Given the description of an element on the screen output the (x, y) to click on. 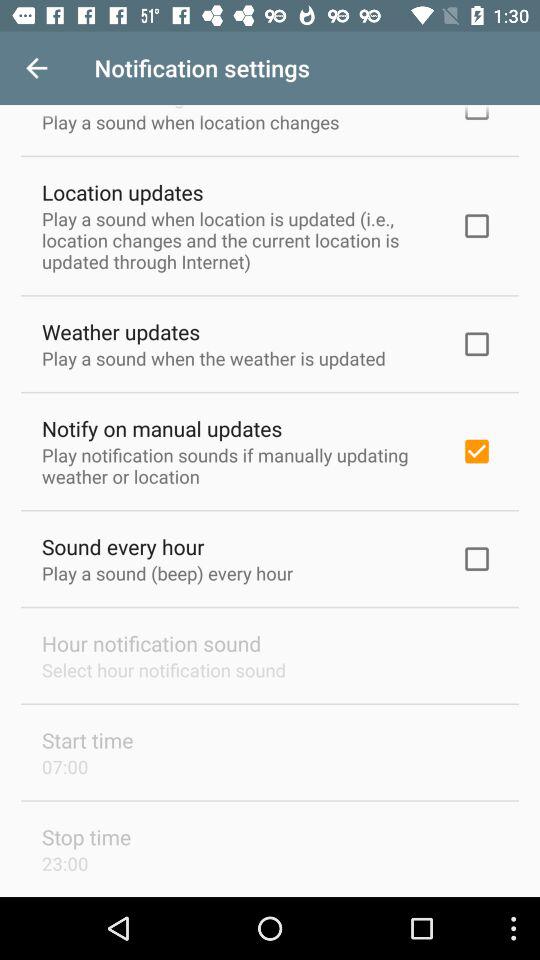
launch item above location changes icon (36, 68)
